Given the description of an element on the screen output the (x, y) to click on. 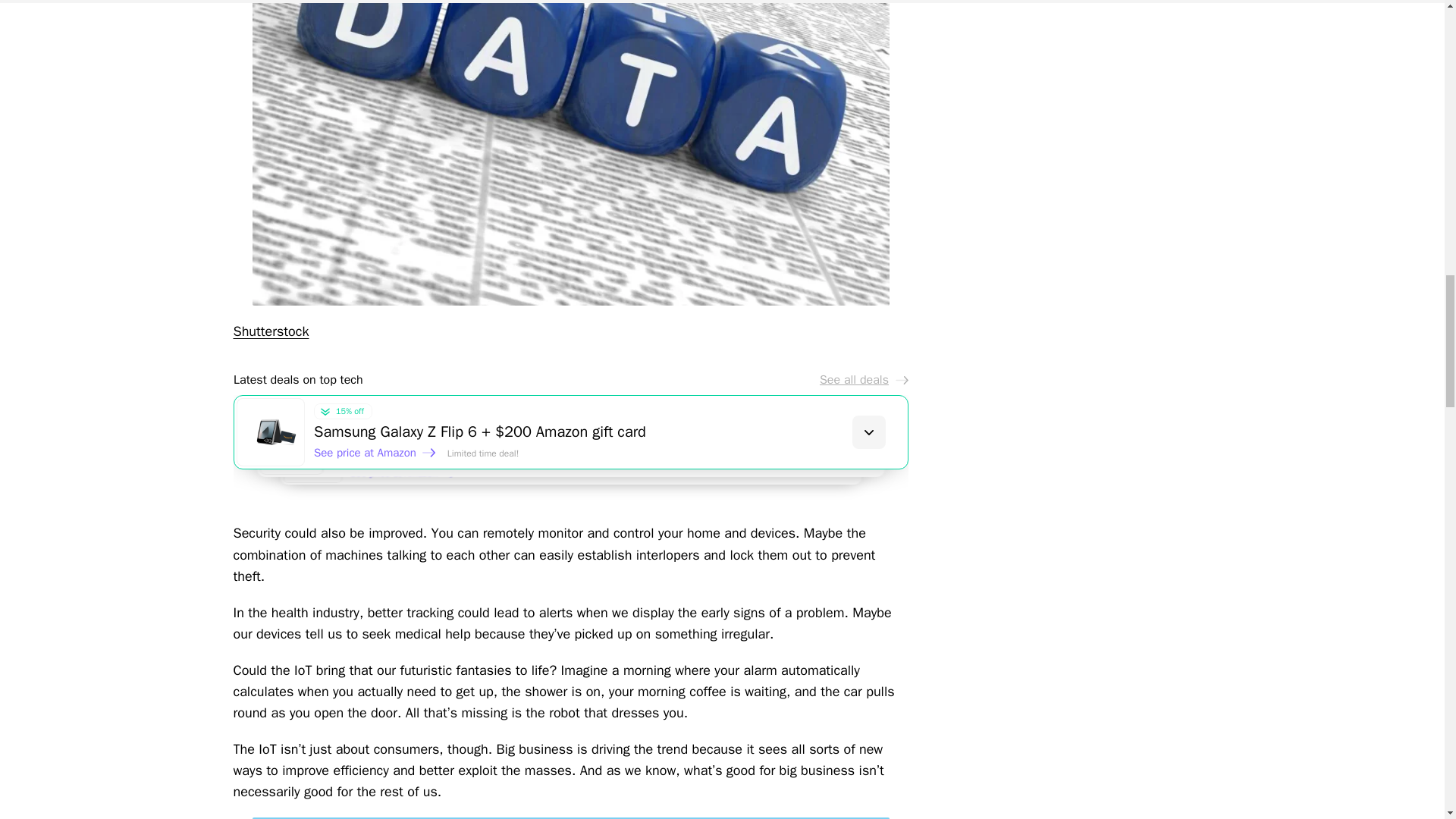
See price at Amazon (374, 452)
See price at Amazon (391, 465)
See price at Amazon (409, 478)
Shutterstock (270, 330)
See all deals (862, 379)
